Given the description of an element on the screen output the (x, y) to click on. 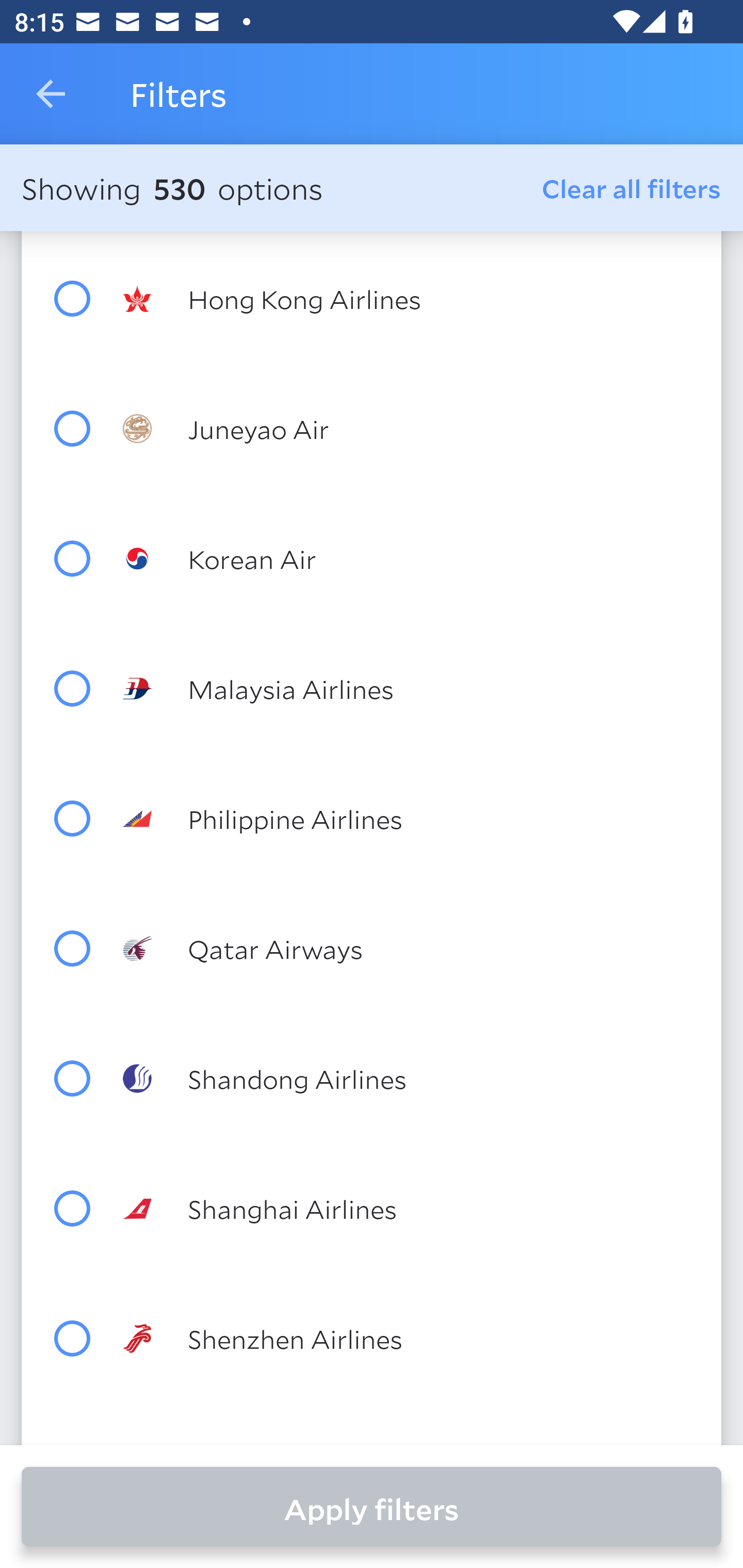
Navigate up (50, 93)
Clear all filters (631, 187)
Hong Kong Airlines (407, 298)
Juneyao Air (407, 427)
Korean Air (407, 557)
Malaysia Airlines (407, 688)
Philippine Airlines (407, 818)
Qatar Airways (407, 948)
Shandong Airlines (407, 1078)
Shanghai Airlines (407, 1208)
Shenzhen Airlines (407, 1337)
Apply filters (371, 1506)
